Given the description of an element on the screen output the (x, y) to click on. 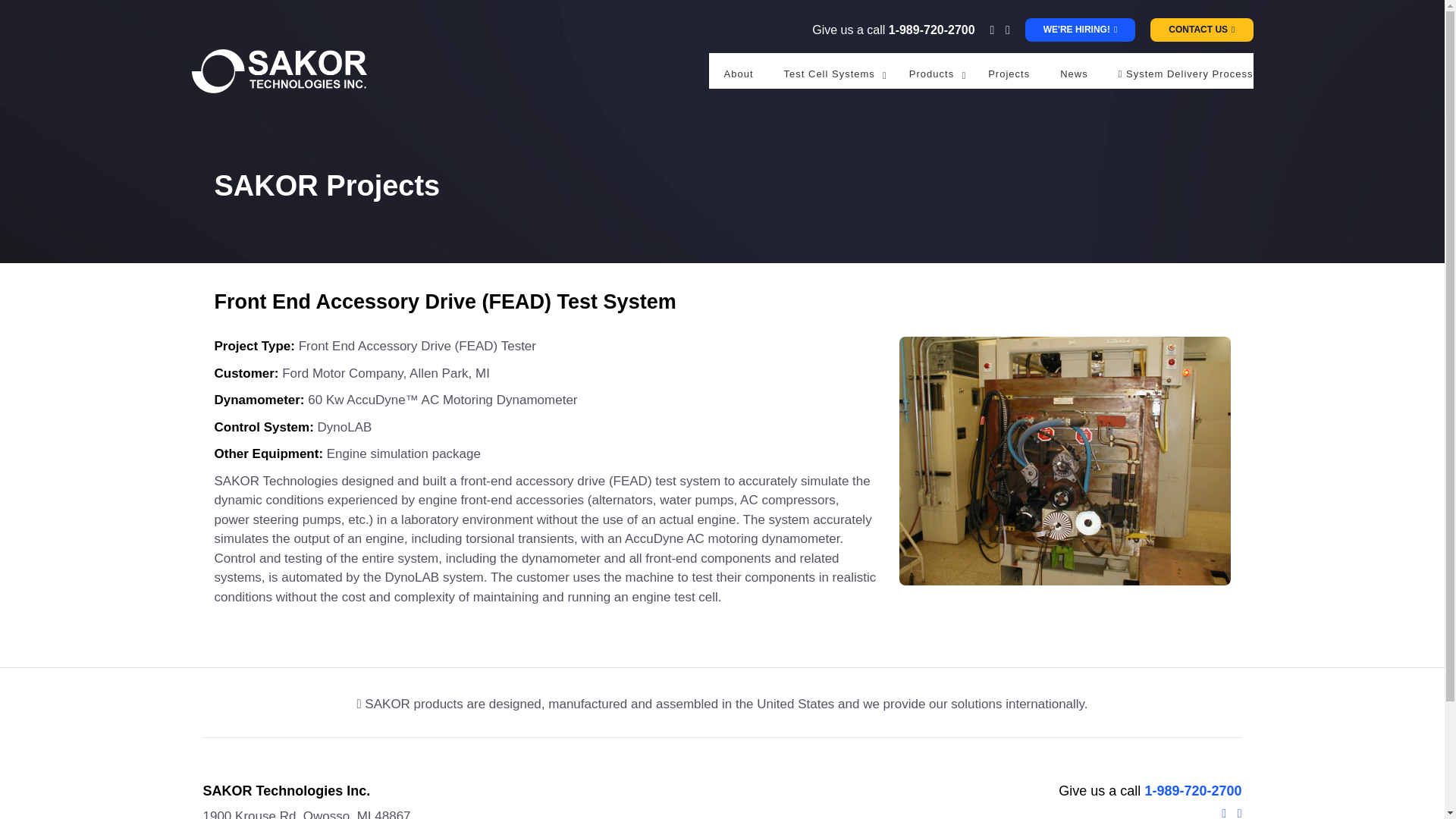
Projects (1008, 74)
WE'RE HIRING! (1080, 29)
1-989-720-2700 (1192, 790)
News (1074, 74)
Test Cell Systems (830, 74)
About (738, 74)
1-989-720-2700 (931, 29)
CONTACT US (1201, 29)
System Delivery Process (1185, 74)
Products (932, 74)
